Given the description of an element on the screen output the (x, y) to click on. 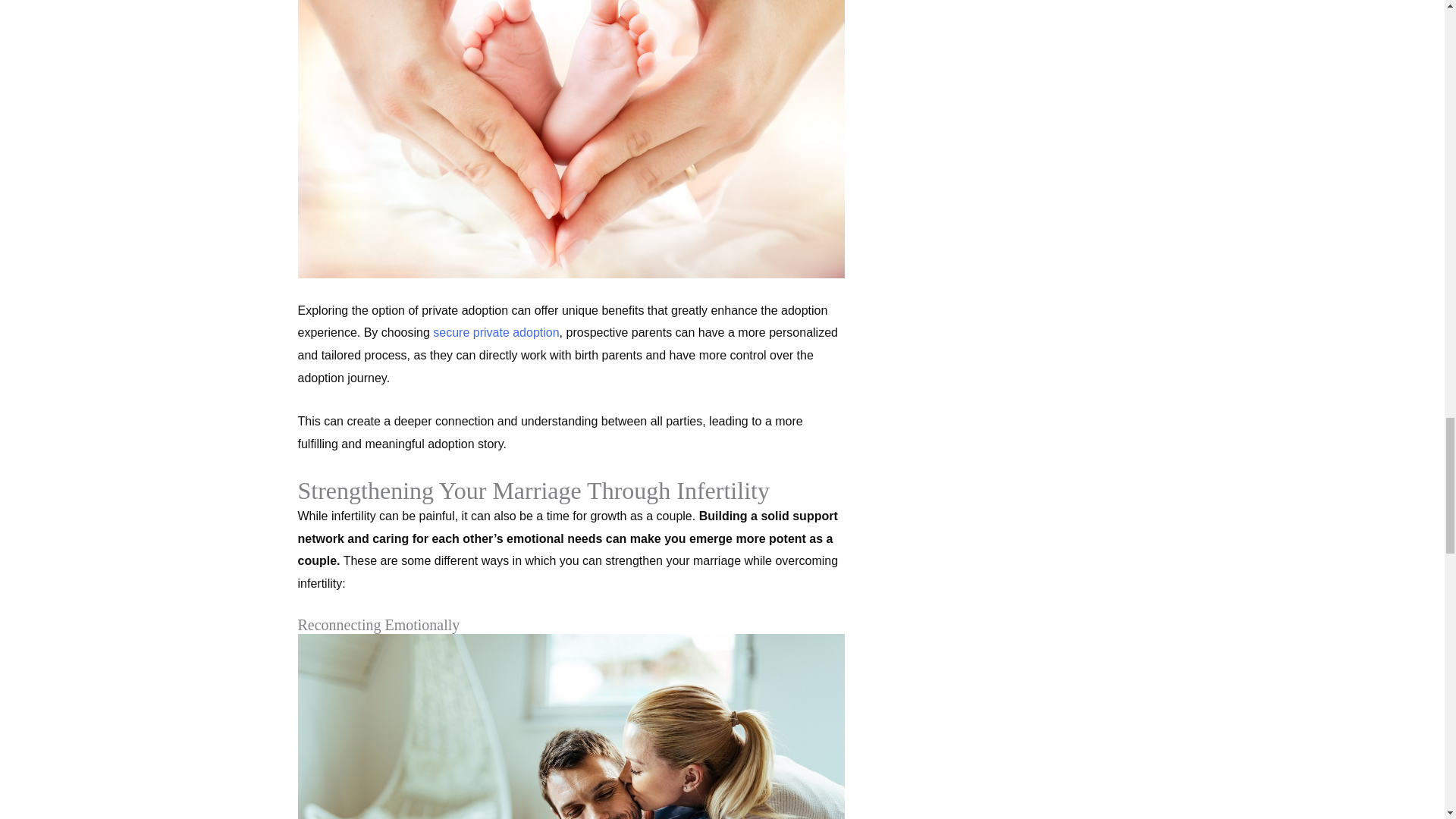
secure private adoption (495, 332)
